Given the description of an element on the screen output the (x, y) to click on. 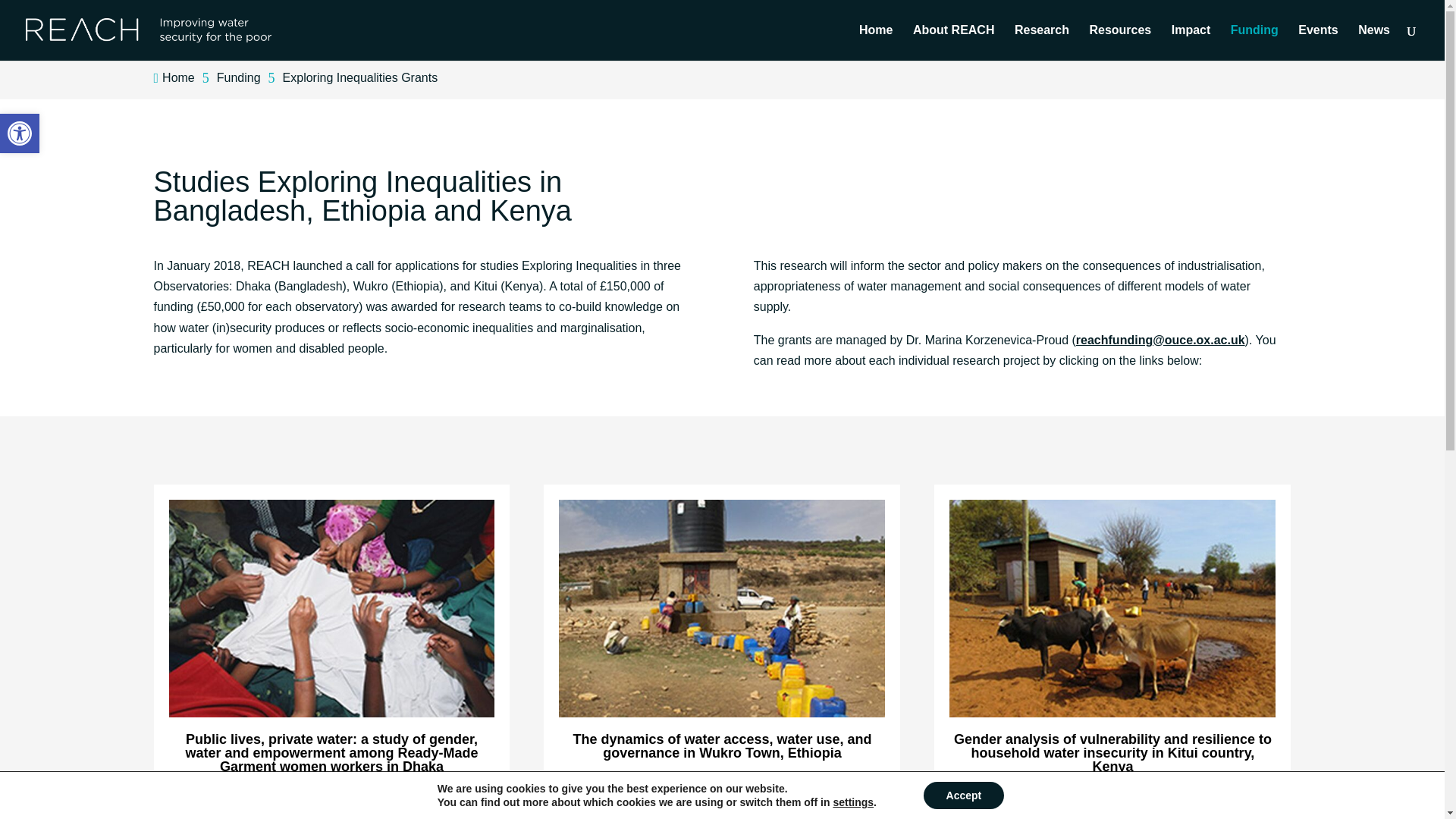
Home (875, 42)
Resources (1120, 42)
Accessibility Tools (19, 133)
Research (1041, 42)
About REACH (19, 133)
Impact (953, 42)
Skip to content (1191, 42)
Funding (1374, 42)
